Given the description of an element on the screen output the (x, y) to click on. 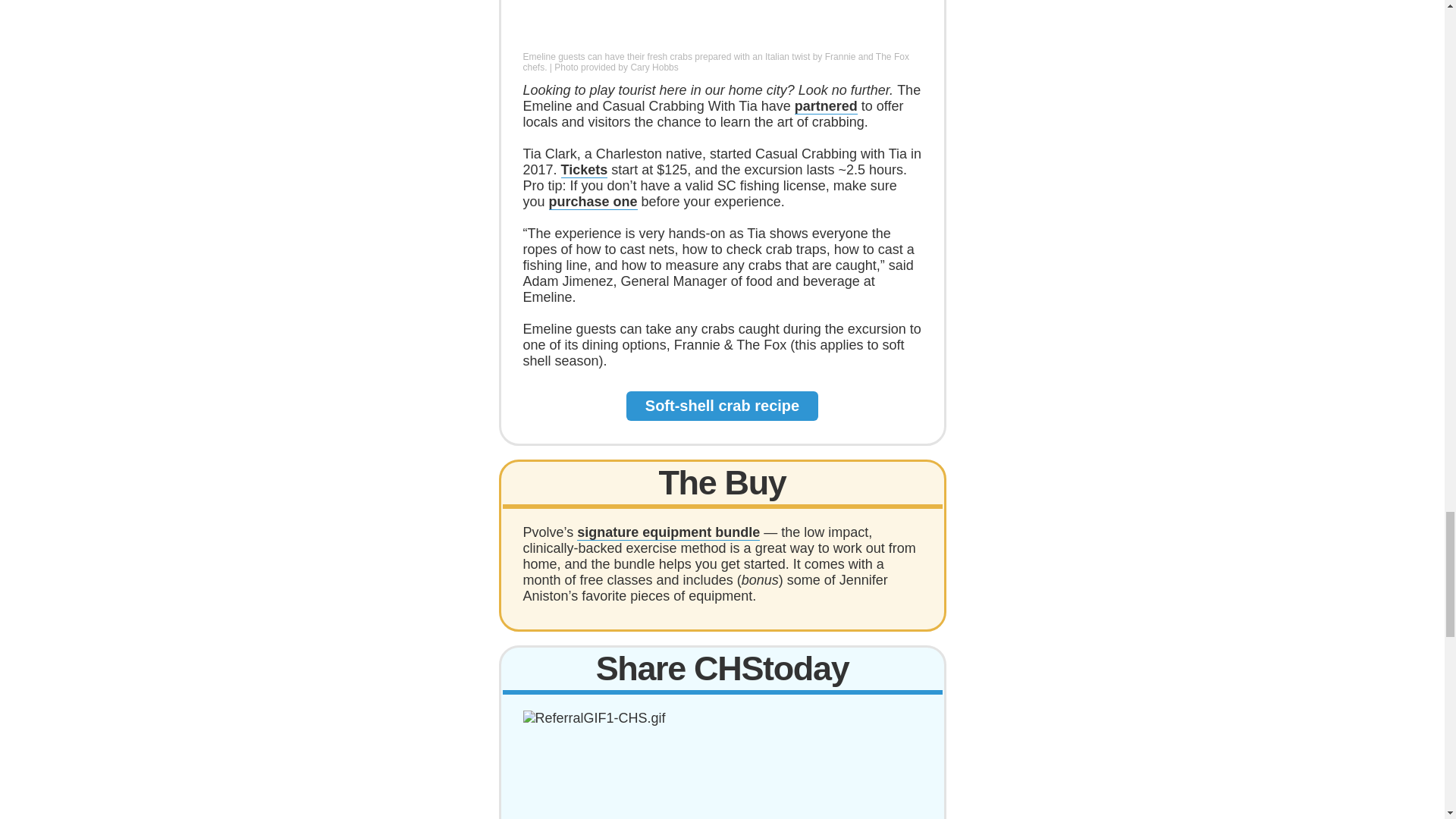
signature equipment bundle (668, 532)
The Buy (722, 482)
purchase one (592, 201)
partnered (825, 106)
Share CHStoday (721, 668)
Soft-shell crab recipe (722, 405)
Tickets (584, 170)
